Given the description of an element on the screen output the (x, y) to click on. 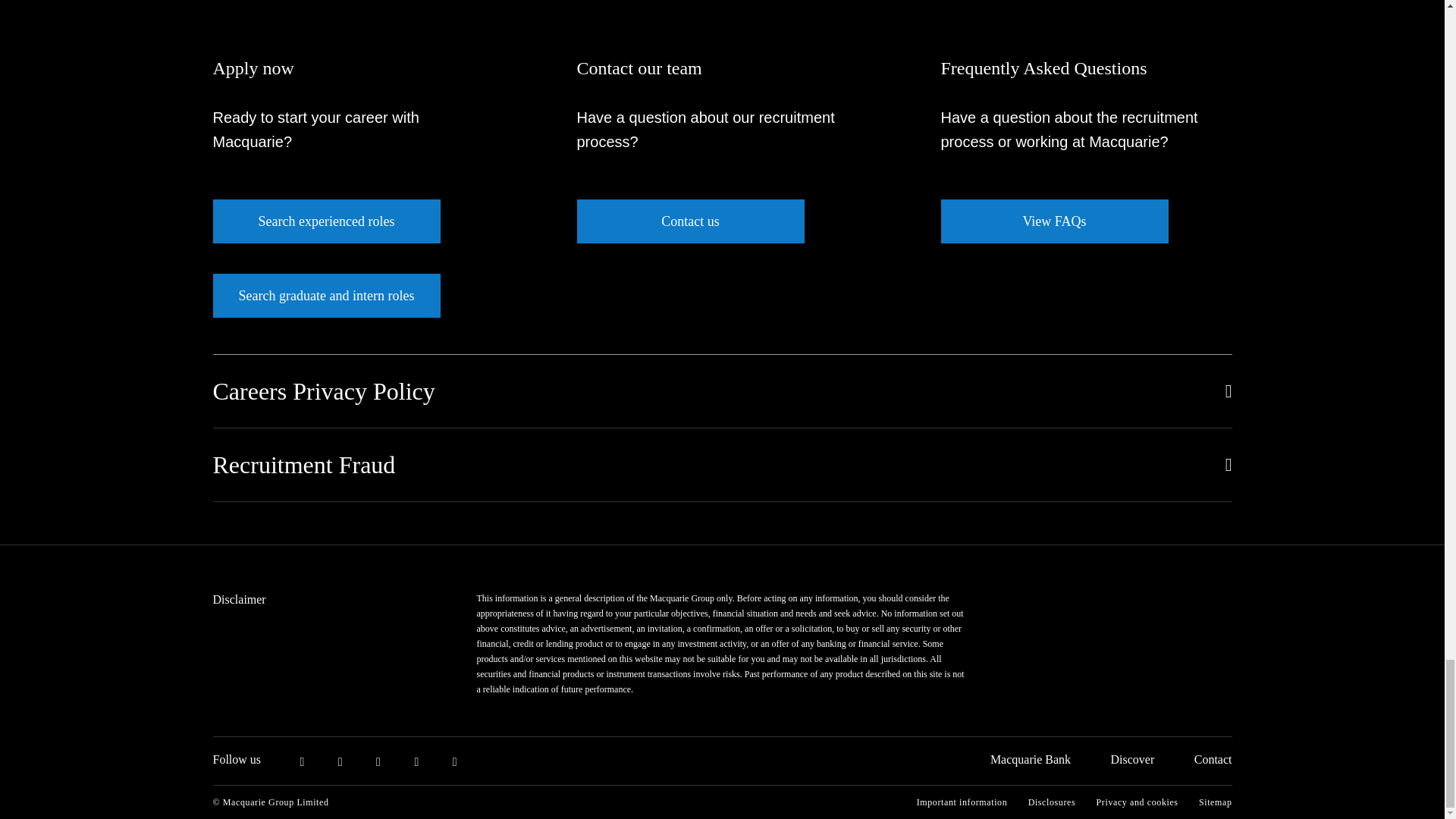
View FAQs (1053, 221)
Search experienced roles (325, 221)
Search graduate and intern roles (325, 295)
Contact us (689, 221)
